Given the description of an element on the screen output the (x, y) to click on. 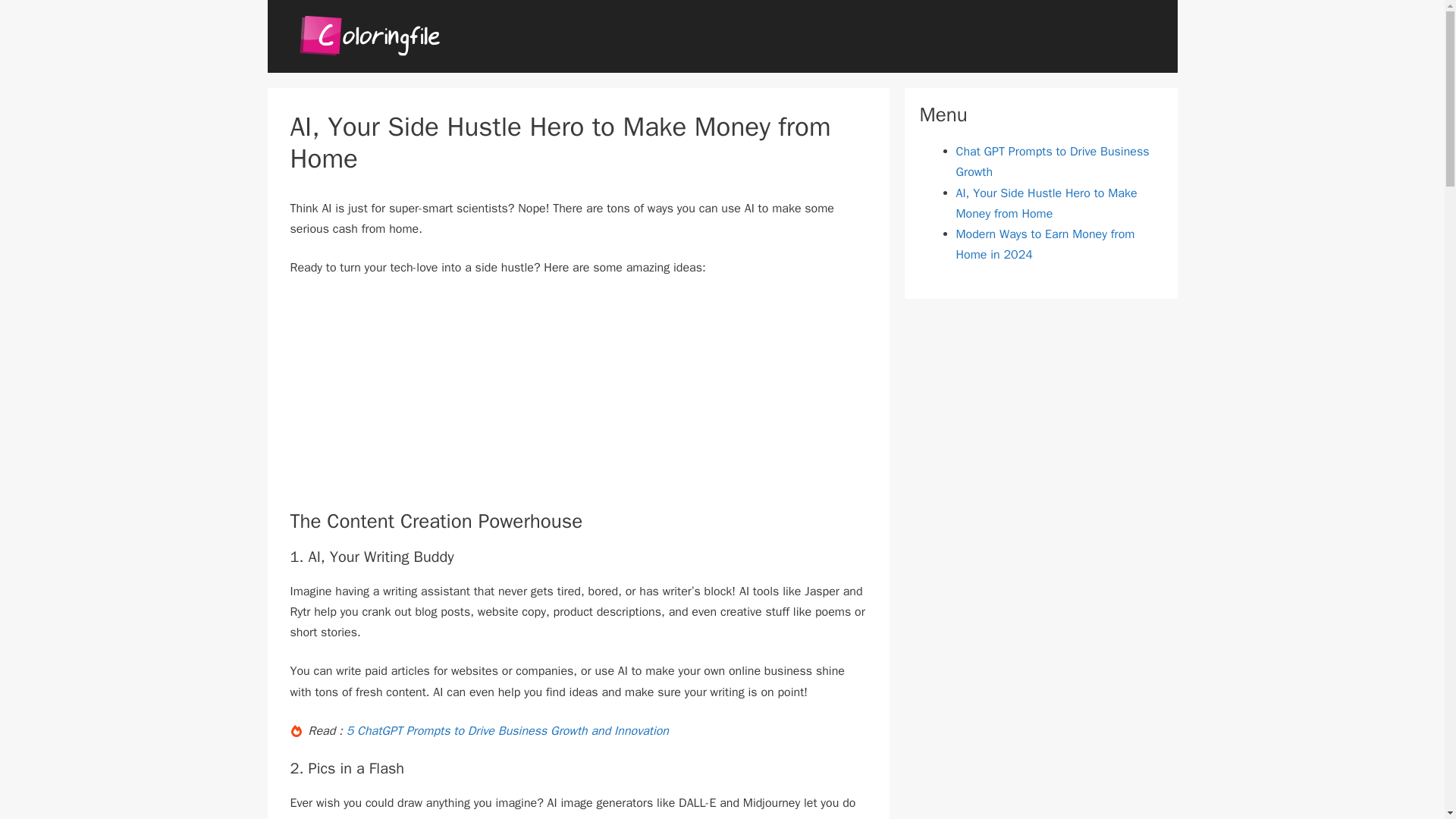
Advertisement (577, 403)
5 ChatGPT Prompts to Drive Business Growth and Innovation (507, 730)
Modern Ways to Earn Money from Home in 2024 (1044, 244)
Chat GPT Prompts to Drive Business Growth (1051, 161)
AI, Your Side Hustle Hero to Make Money from Home (1046, 203)
